Given the description of an element on the screen output the (x, y) to click on. 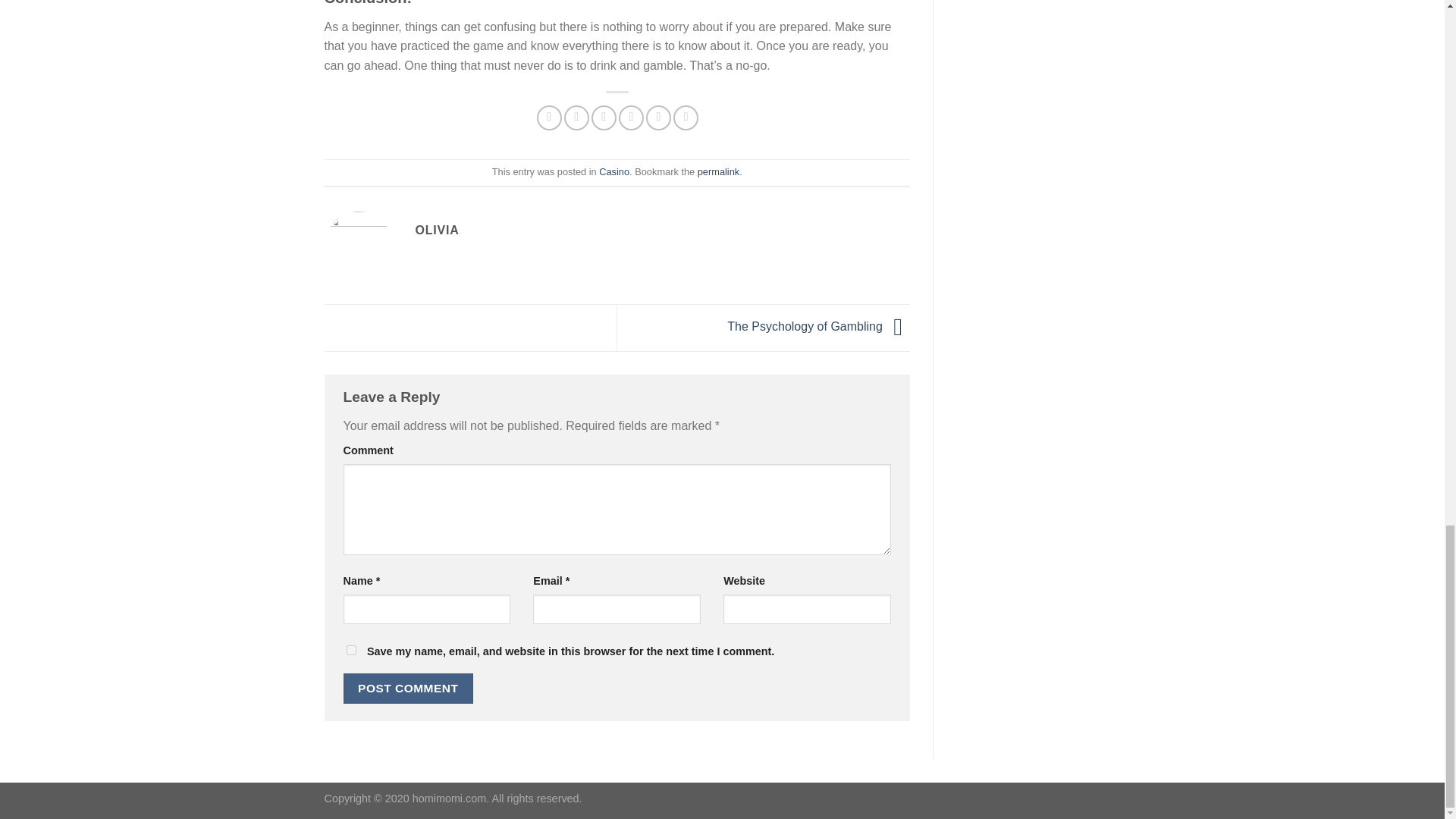
permalink (718, 171)
yes (350, 650)
Casino (613, 171)
The Psychology of Gambling (818, 327)
Permalink to Preparation for your first casino visit (718, 171)
Post Comment (407, 687)
Post Comment (407, 687)
